Given the description of an element on the screen output the (x, y) to click on. 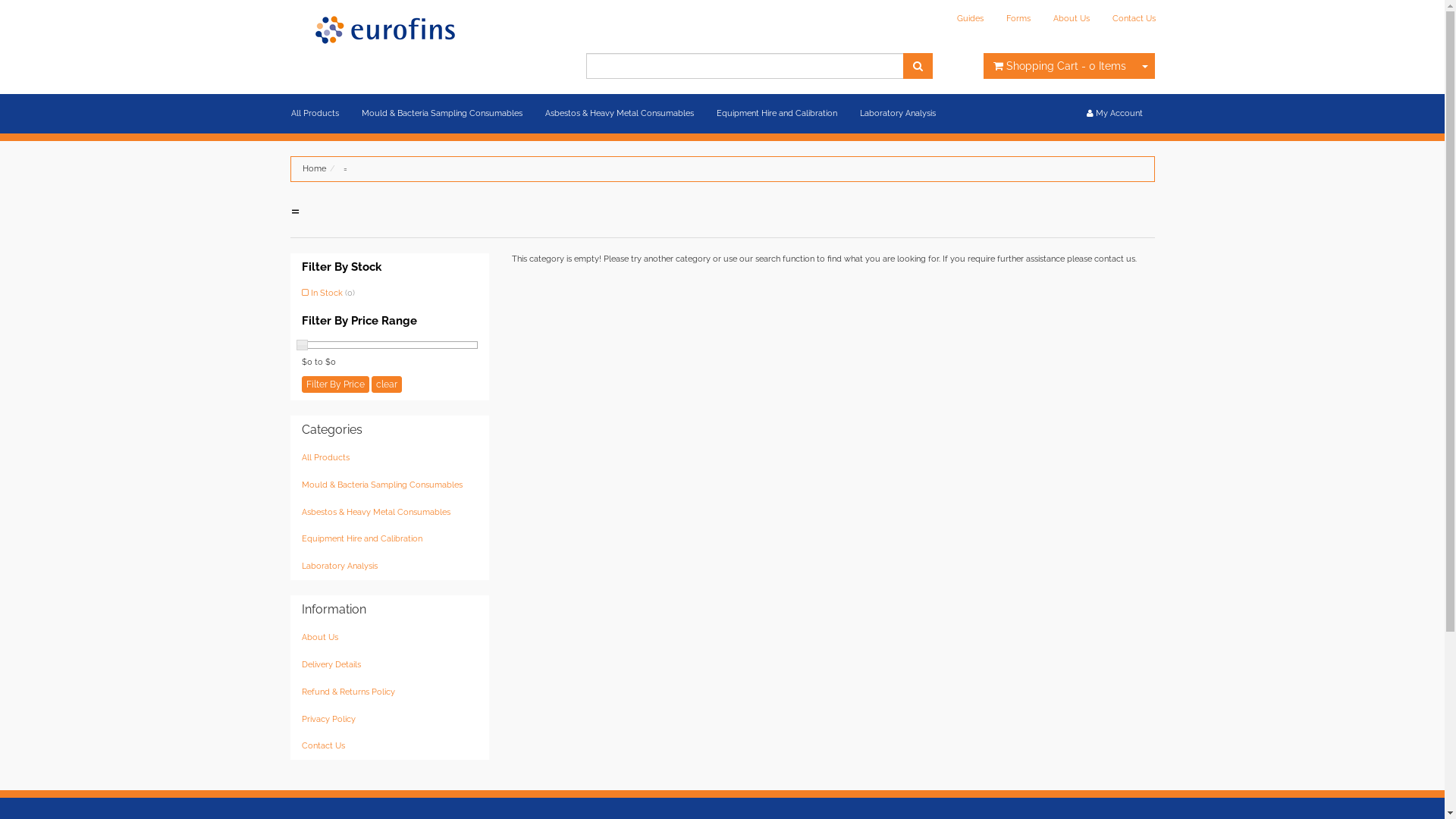
In Stock (0) Element type: text (389, 293)
Contact Us Element type: text (1134, 18)
Refund & Returns Policy Element type: text (389, 692)
Contact Us Element type: text (389, 745)
Privacy Policy Element type: text (389, 719)
Equipment Hire and Calibration Element type: text (389, 538)
Filter By Price Element type: text (335, 384)
All Products Element type: text (389, 457)
Equipment Hire and Calibration Element type: text (776, 113)
Laboratory Analysis Element type: text (389, 566)
Asbestos & Heavy Metal Consumables Element type: text (389, 512)
= Element type: text (344, 168)
Forms Element type: text (1017, 18)
Shopping Cart - 0 Items Element type: text (1058, 65)
About Us Element type: text (1071, 18)
All Products Element type: text (314, 113)
Eurofins Environment Testing Australia Element type: hover (384, 29)
Delivery Details Element type: text (389, 664)
Home Element type: text (313, 168)
Search Element type: text (917, 65)
clear Element type: text (386, 384)
About Us Element type: text (389, 637)
Mould & Bacteria Sampling Consumables Element type: text (389, 484)
Guides Element type: text (969, 18)
Mould & Bacteria Sampling Consumables Element type: text (441, 113)
My Account Element type: text (1114, 113)
Asbestos & Heavy Metal Consumables Element type: text (619, 113)
Laboratory Analysis Element type: text (896, 113)
